Given the description of an element on the screen output the (x, y) to click on. 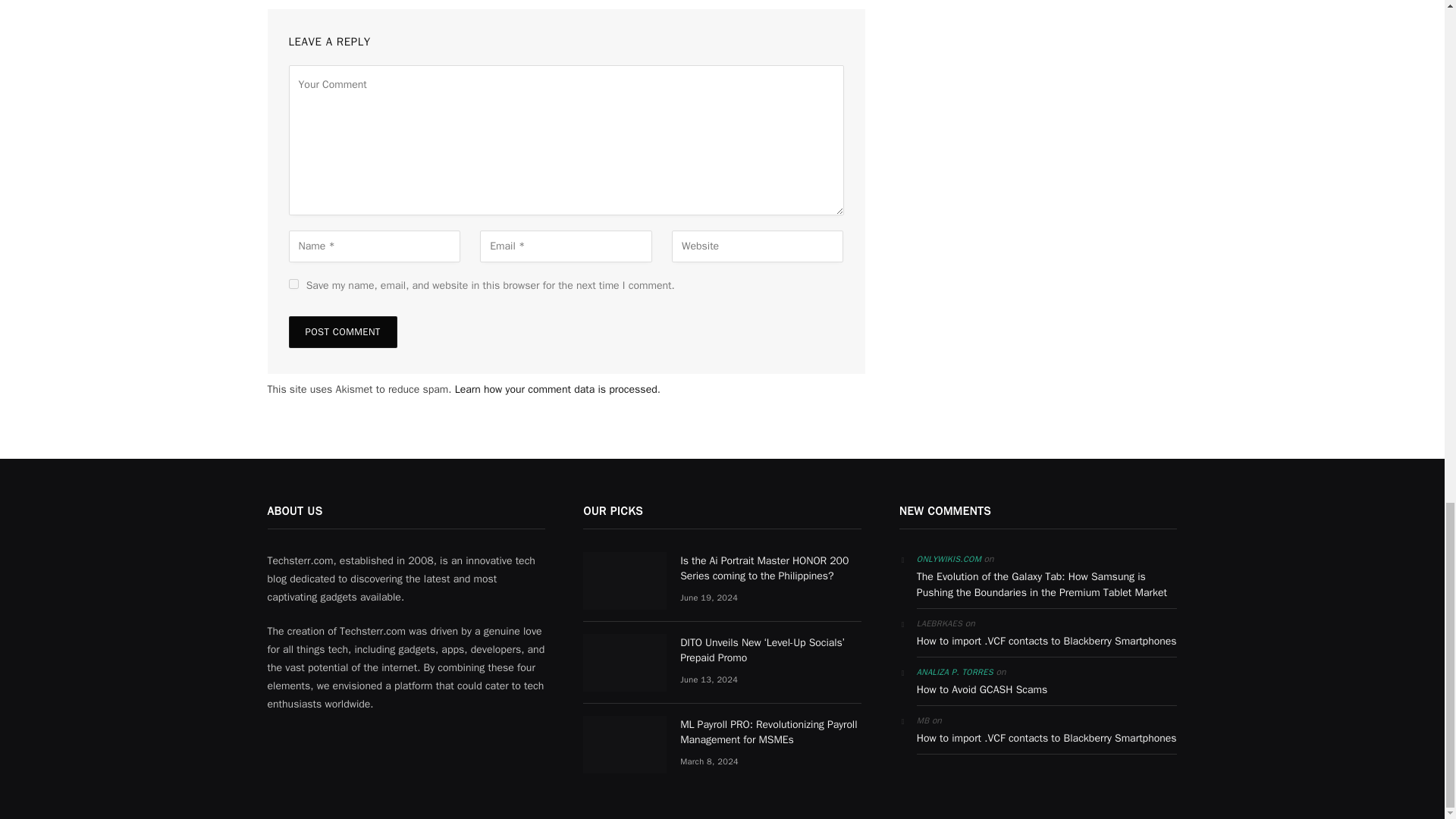
Post Comment (342, 332)
yes (293, 284)
